Given the description of an element on the screen output the (x, y) to click on. 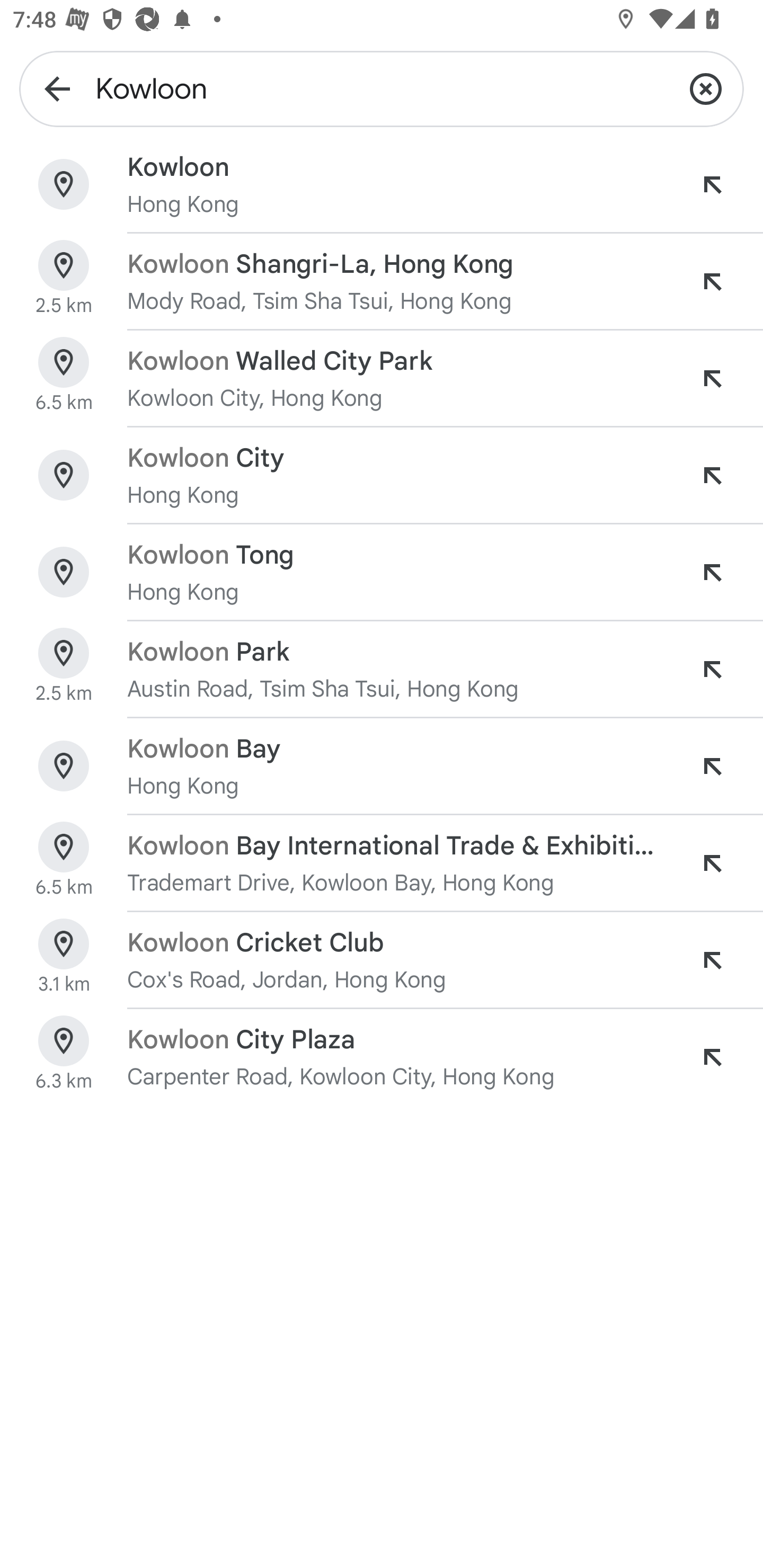
Navigate up (57, 88)
Kowloon (381, 88)
Clear (705, 88)
